Given the description of an element on the screen output the (x, y) to click on. 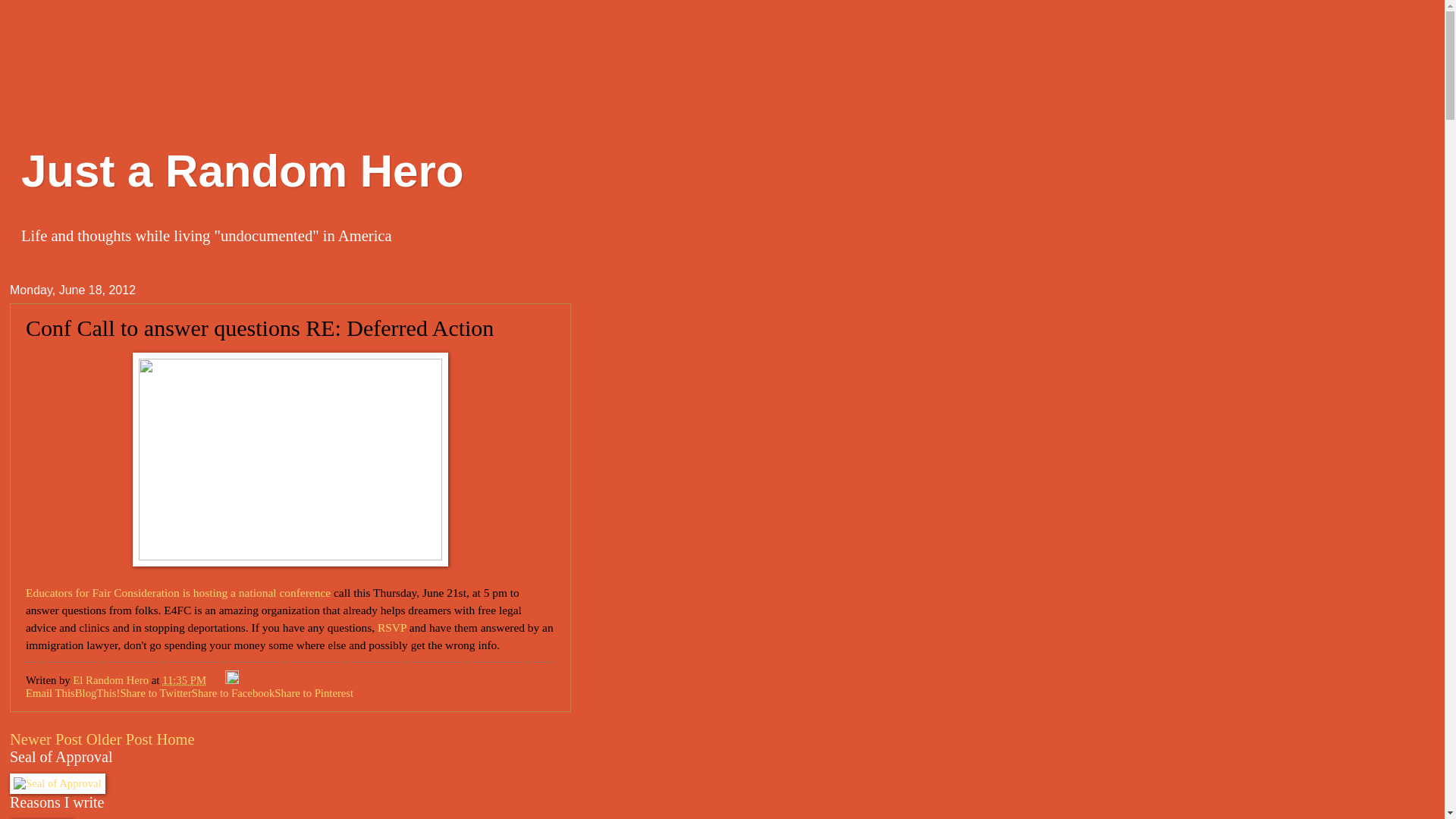
Share to Pinterest (314, 693)
author profile (111, 680)
Email This (50, 693)
Edit Post (231, 680)
Share to Facebook (233, 693)
El Random Hero (111, 680)
Older Post (118, 739)
BlogThis! (97, 693)
Share to Facebook (233, 693)
Newer Post (46, 739)
Share to Twitter (154, 693)
Email Post (217, 680)
Newer Post (46, 739)
RSVP (391, 626)
